Given the description of an element on the screen output the (x, y) to click on. 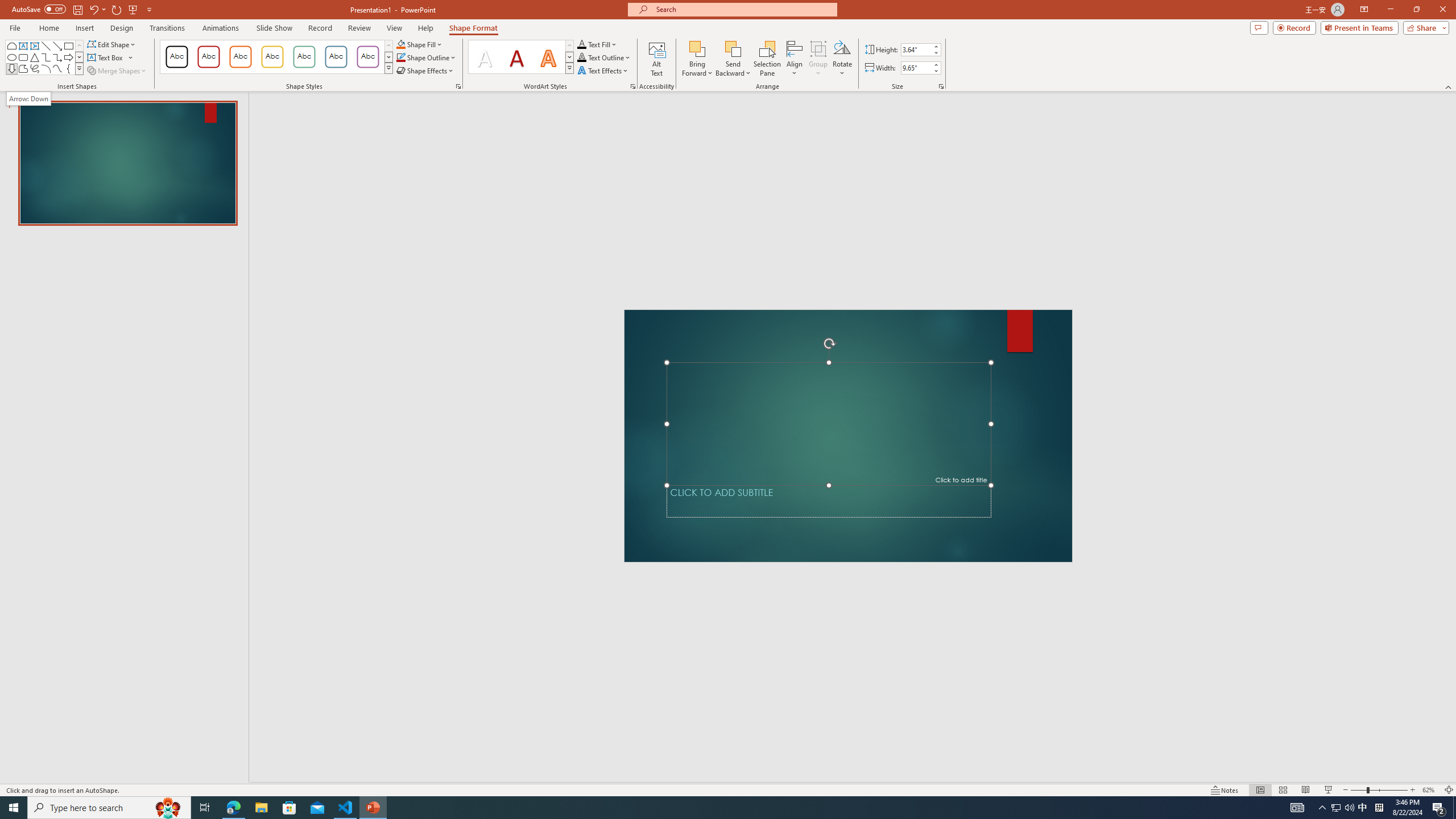
Colored Outline - Green, Accent 4 (304, 56)
Shape Height (915, 49)
Merge Shapes (117, 69)
Shape Fill Orange, Accent 2 (400, 44)
Zoom 62% (1430, 790)
Quick Styles (568, 67)
Colored Outline - Gold, Accent 3 (272, 56)
Colored Outline - Black, Dark 1 (176, 56)
